Given the description of an element on the screen output the (x, y) to click on. 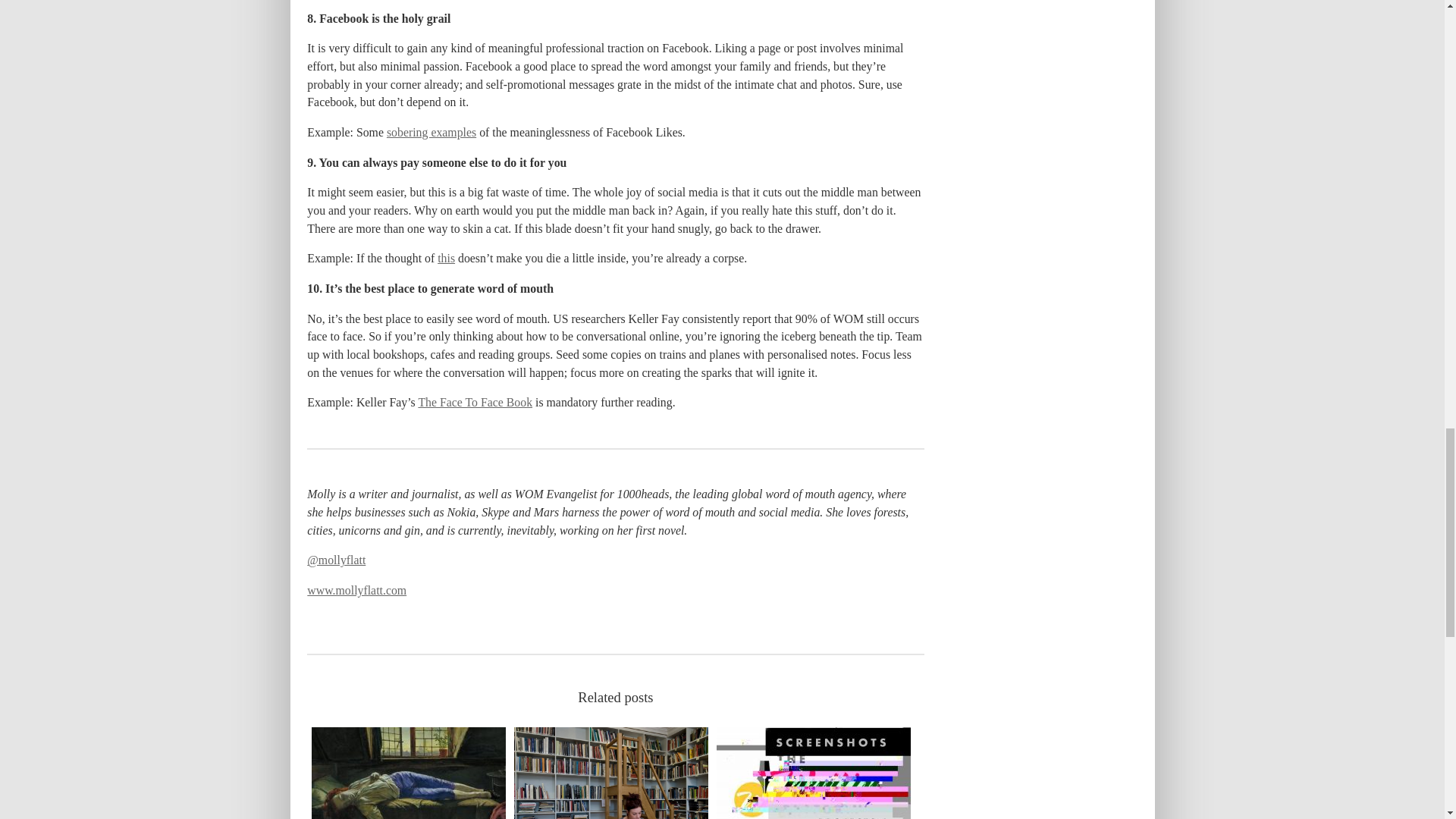
this (446, 257)
Keller Fay (474, 401)
The Face To Face Book (474, 401)
www.mollyflatt.com (356, 590)
sobering examples (431, 132)
